Given the description of an element on the screen output the (x, y) to click on. 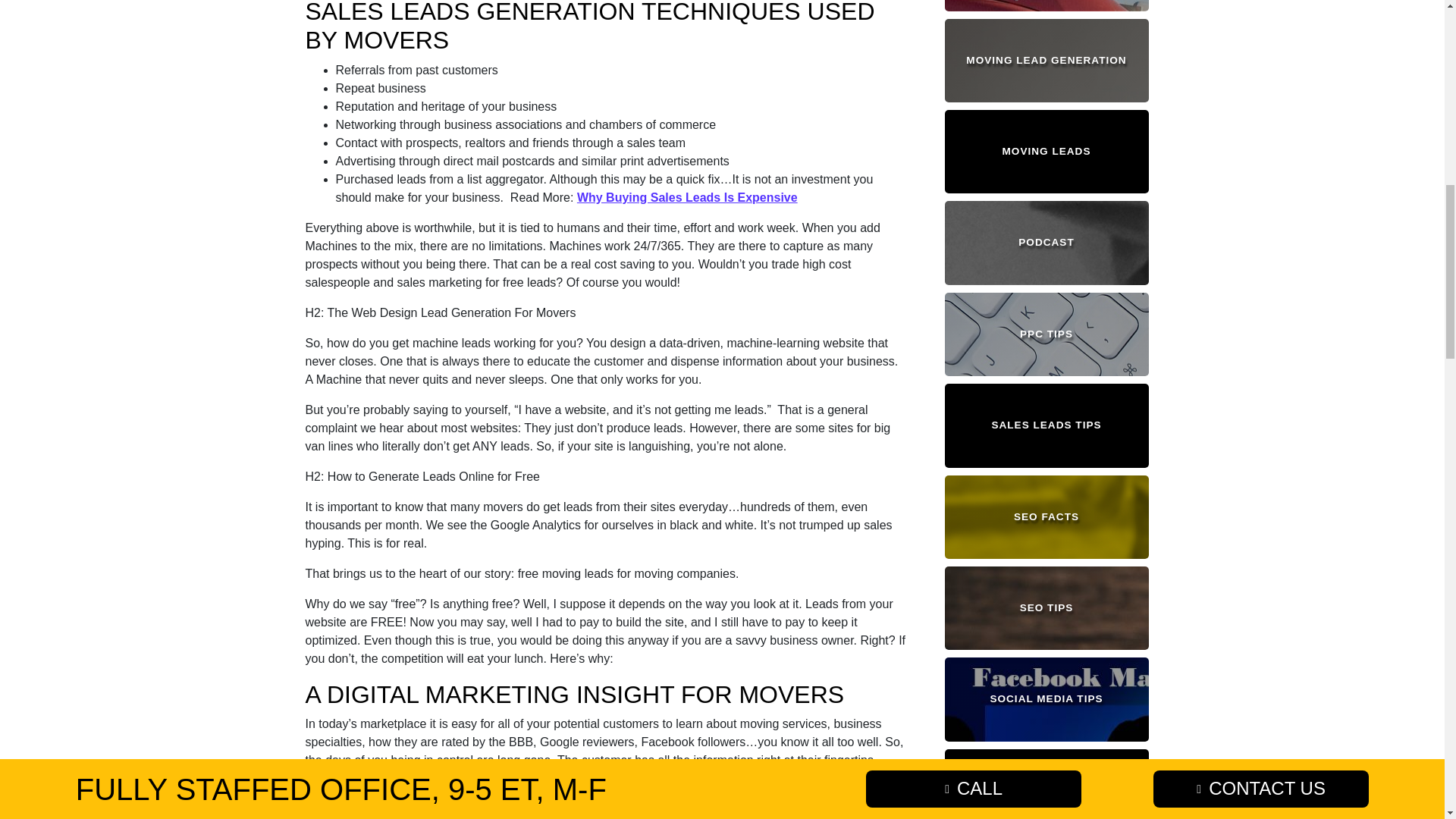
Why Buying Sales Leads Is Expensive (686, 196)
